Given the description of an element on the screen output the (x, y) to click on. 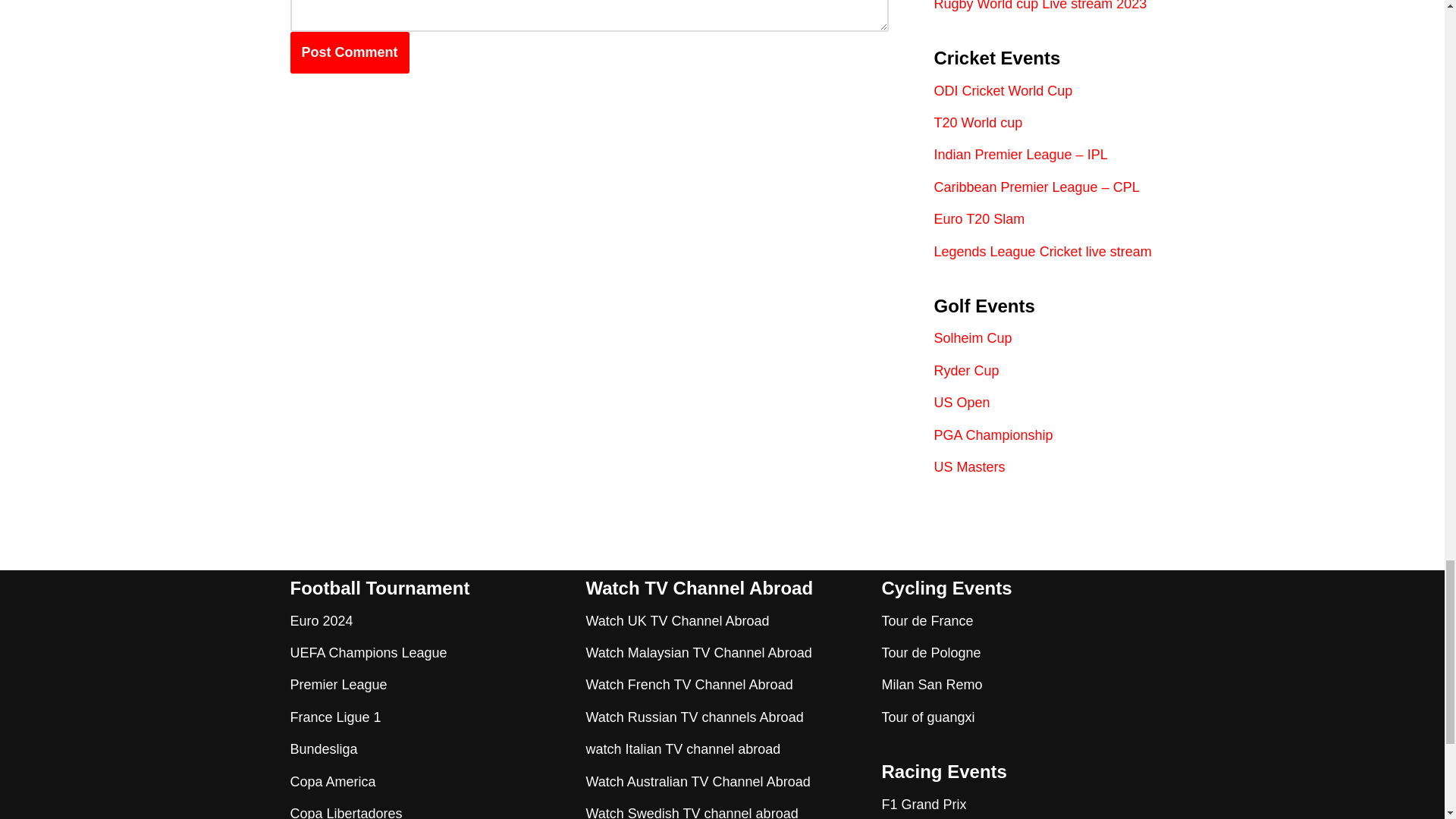
ODI Cricket World Cup live stream (1003, 90)
Post Comment (349, 52)
